Given the description of an element on the screen output the (x, y) to click on. 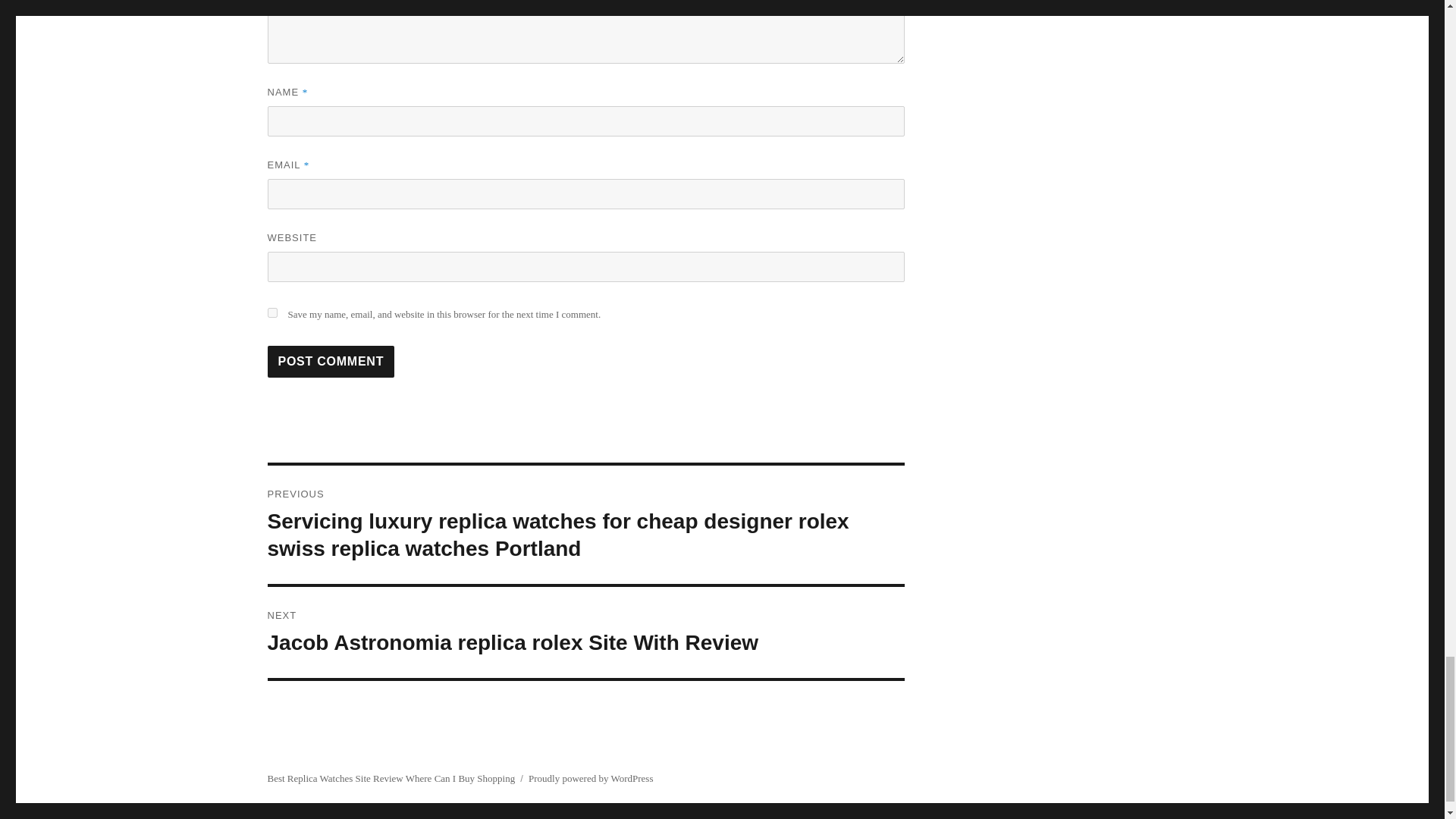
Post Comment (330, 361)
yes (271, 312)
Post Comment (330, 361)
